Given the description of an element on the screen output the (x, y) to click on. 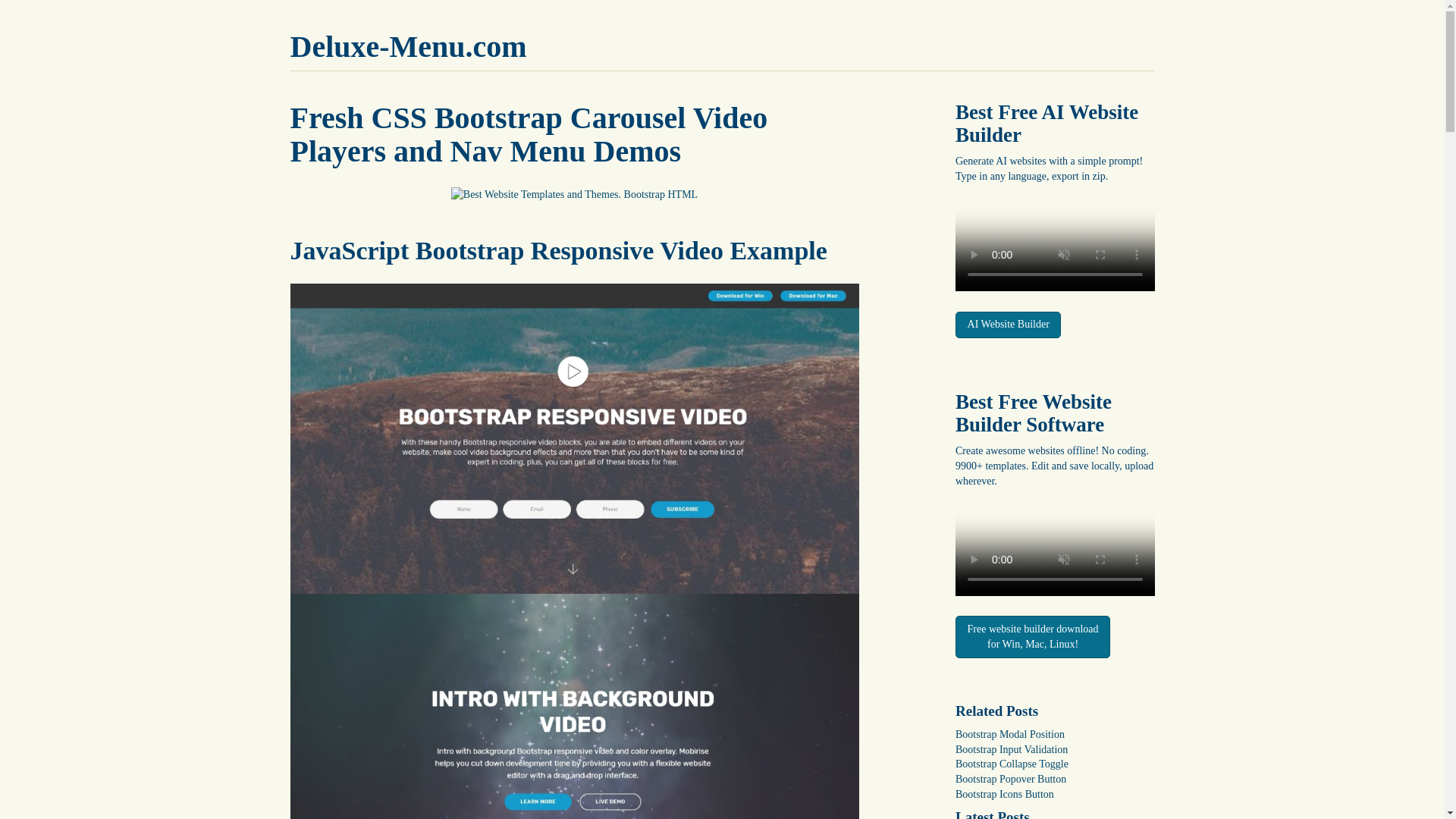
Deluxe-Menu.com (407, 46)
